Given the description of an element on the screen output the (x, y) to click on. 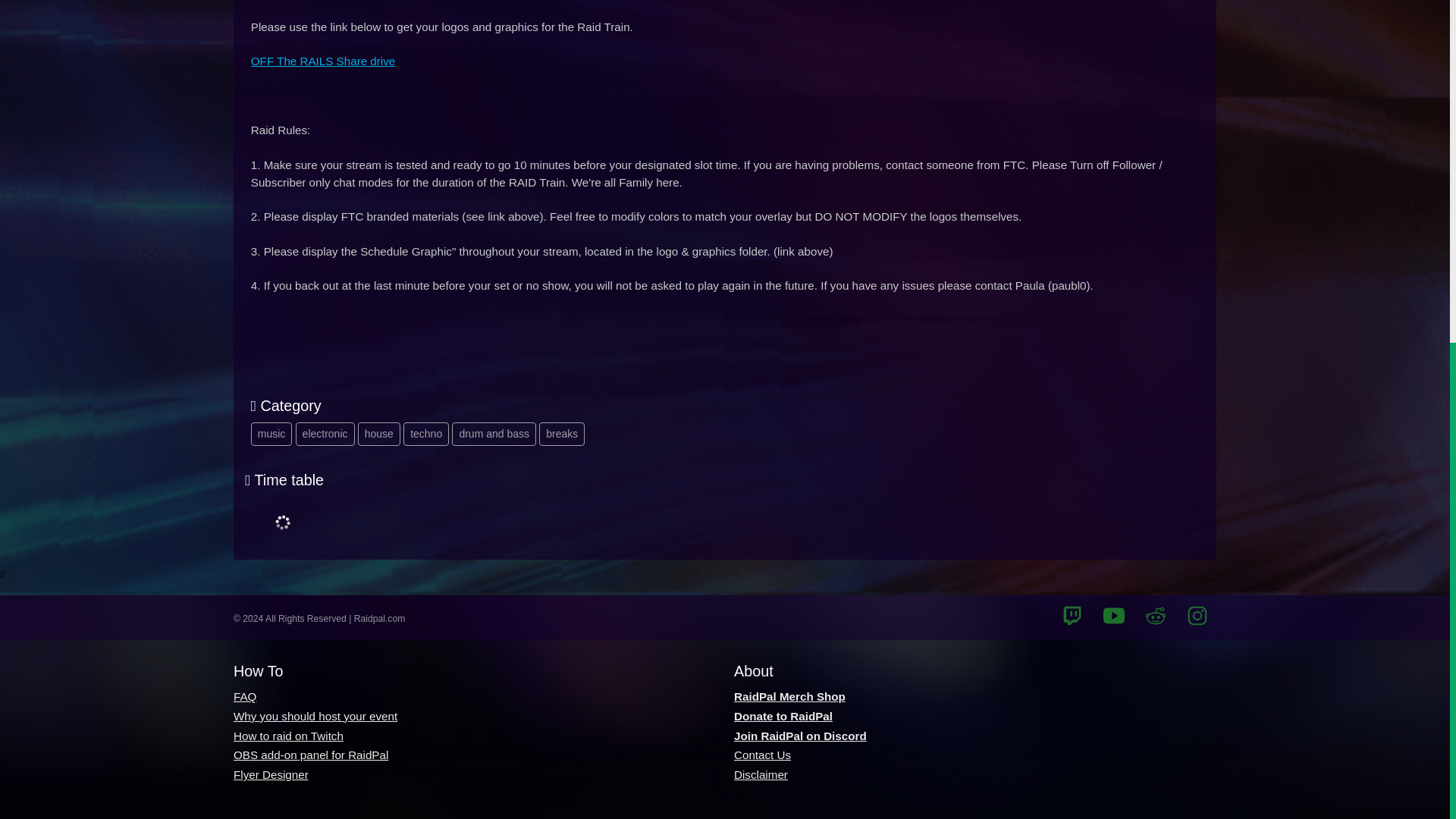
OFF The RAILS Share drive (322, 60)
music (271, 433)
Why you should host your event (314, 716)
Contact Us (761, 754)
house (379, 433)
Donate to RaidPal (782, 716)
drum and bass (493, 433)
RaidPal Merch Shop (789, 696)
electronic (325, 433)
breaks (561, 433)
RaidPal Discord (799, 735)
Why you should host your own event (314, 716)
OFF The RAILS Share drive (322, 60)
Donate (782, 716)
techno (425, 433)
